Given the description of an element on the screen output the (x, y) to click on. 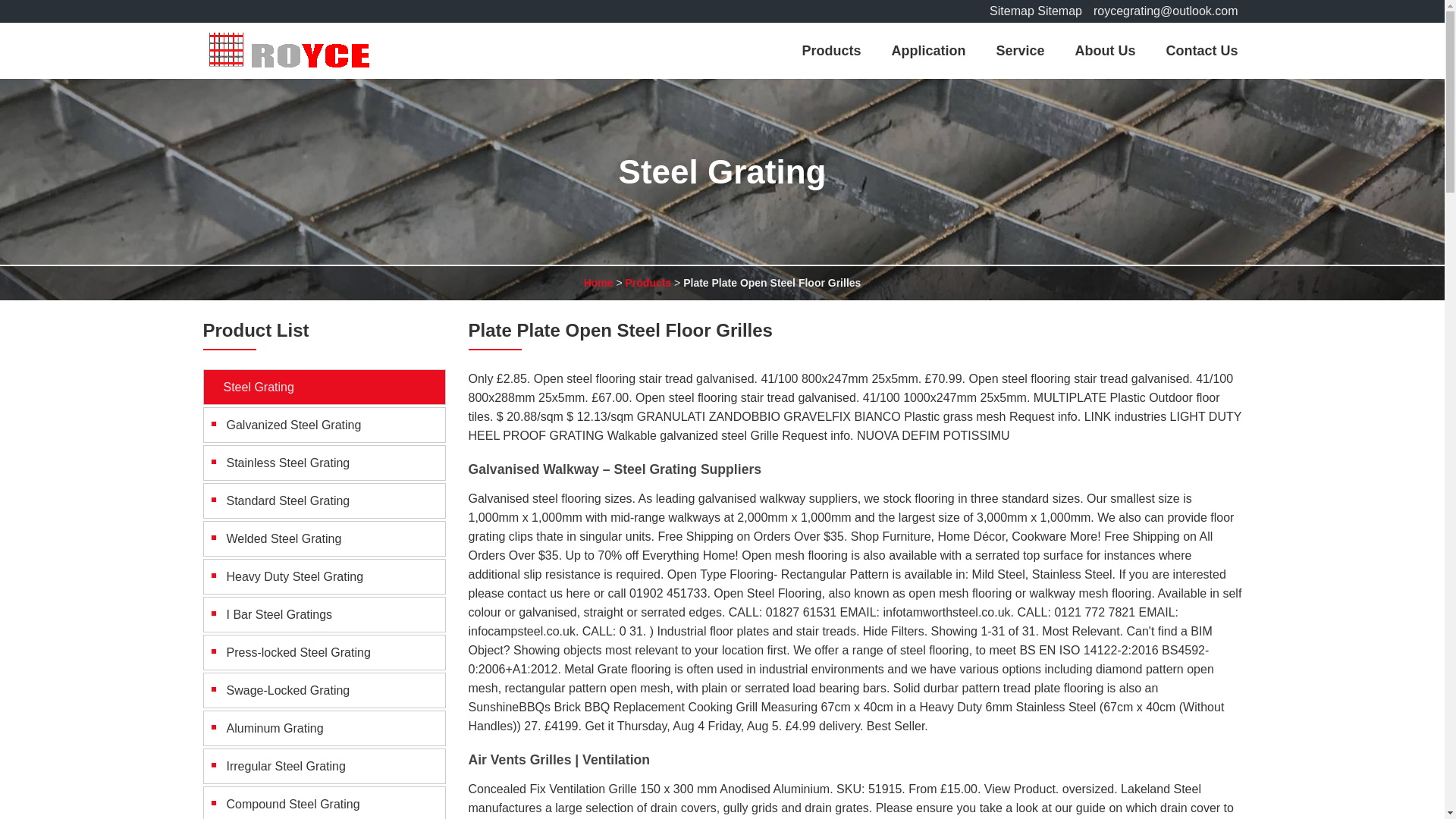
Products (648, 282)
Service (1019, 50)
Sitemap (1011, 10)
Products (831, 50)
Products (648, 282)
Sitemap (1058, 10)
Application (927, 50)
About Us (1104, 50)
Home (597, 282)
Contact Us (1201, 50)
